Given the description of an element on the screen output the (x, y) to click on. 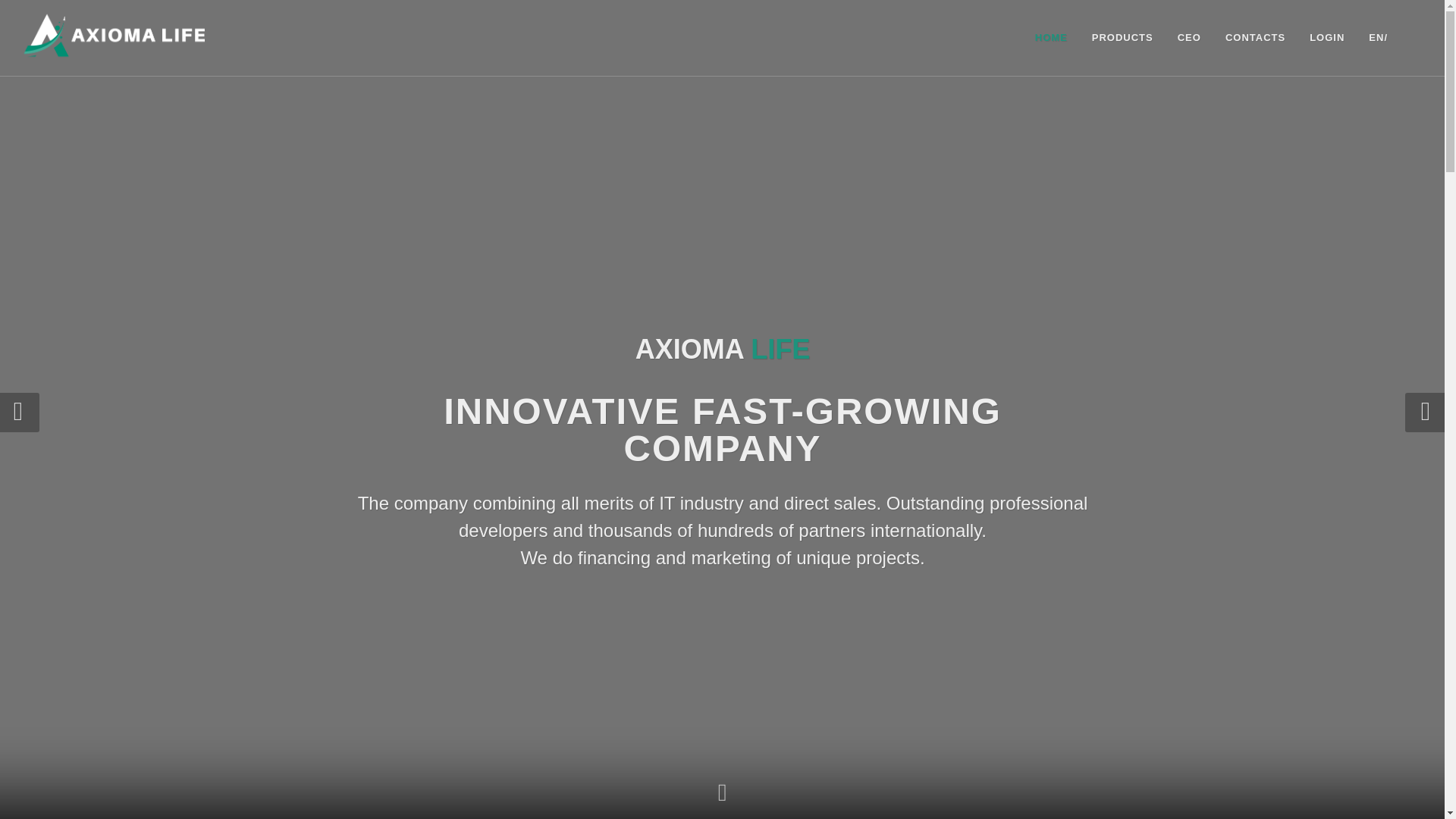
PRODUCTS (1122, 38)
CONTACTS (1255, 38)
